Given the description of an element on the screen output the (x, y) to click on. 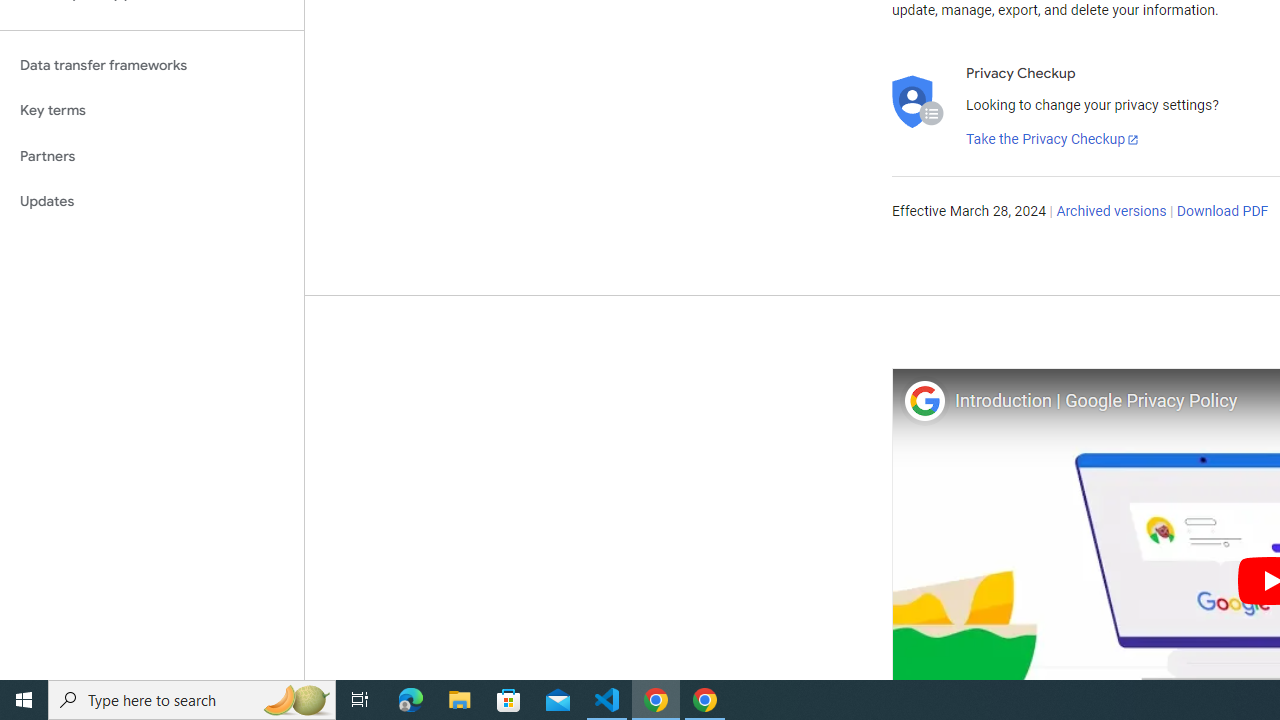
Archived versions (1111, 212)
Partners (152, 156)
Data transfer frameworks (152, 65)
Photo image of Google (924, 400)
Take the Privacy Checkup (1053, 140)
Key terms (152, 110)
Download PDF (1222, 212)
